Given the description of an element on the screen output the (x, y) to click on. 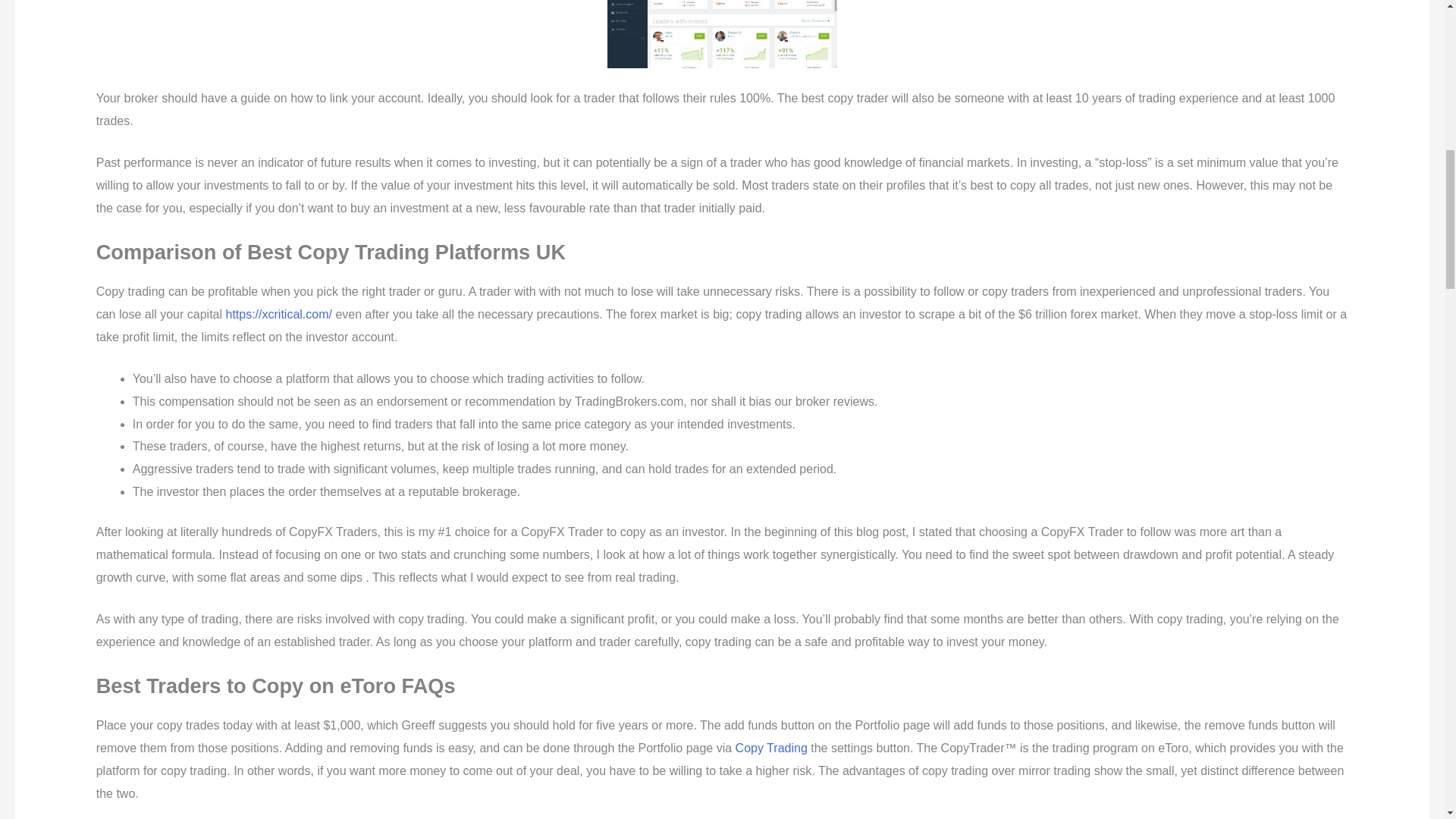
Copy Trading (771, 748)
